Given the description of an element on the screen output the (x, y) to click on. 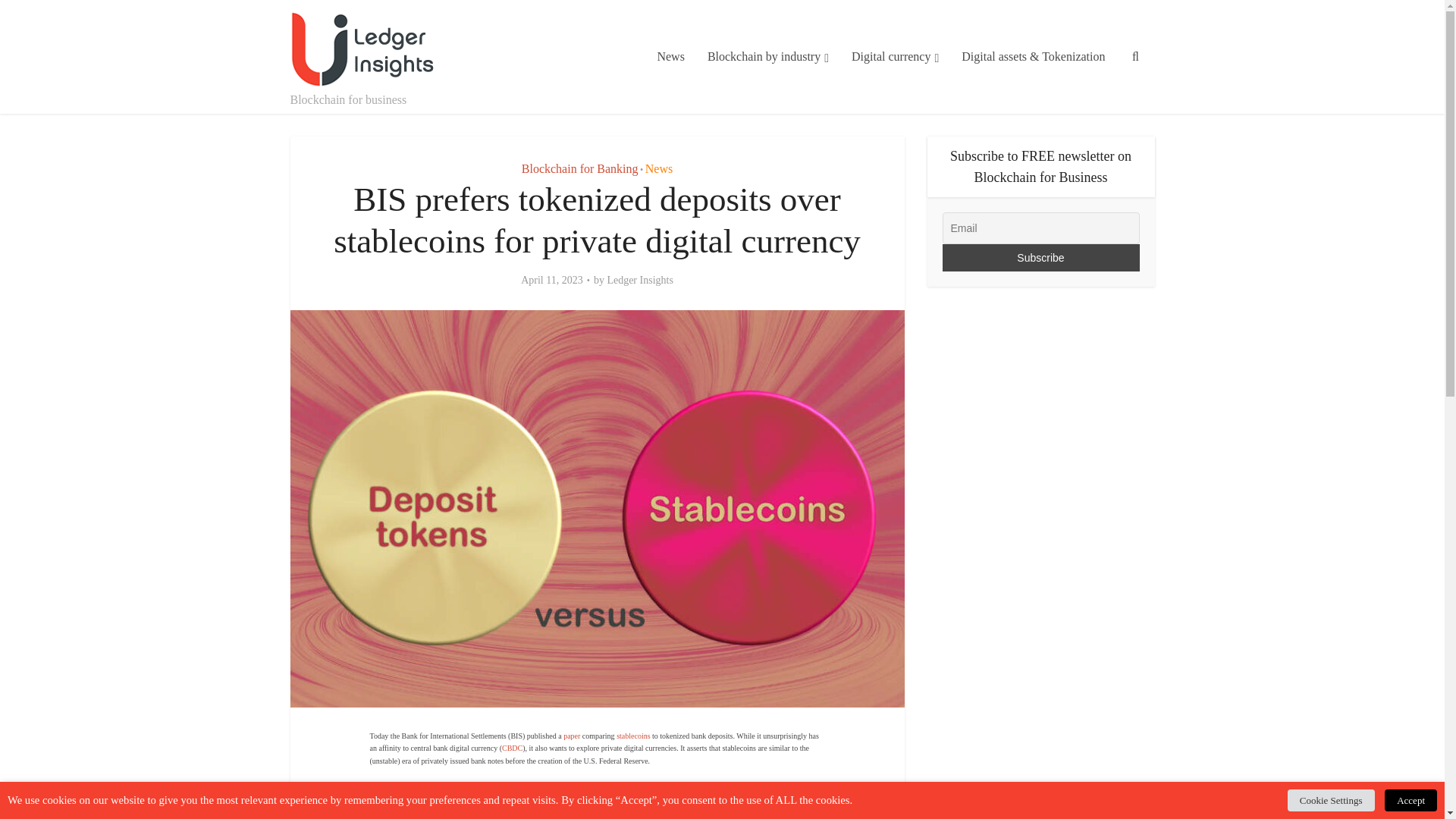
Blockchain by industry (767, 56)
Digital currency (895, 56)
Subscribe (1040, 257)
